Given the description of an element on the screen output the (x, y) to click on. 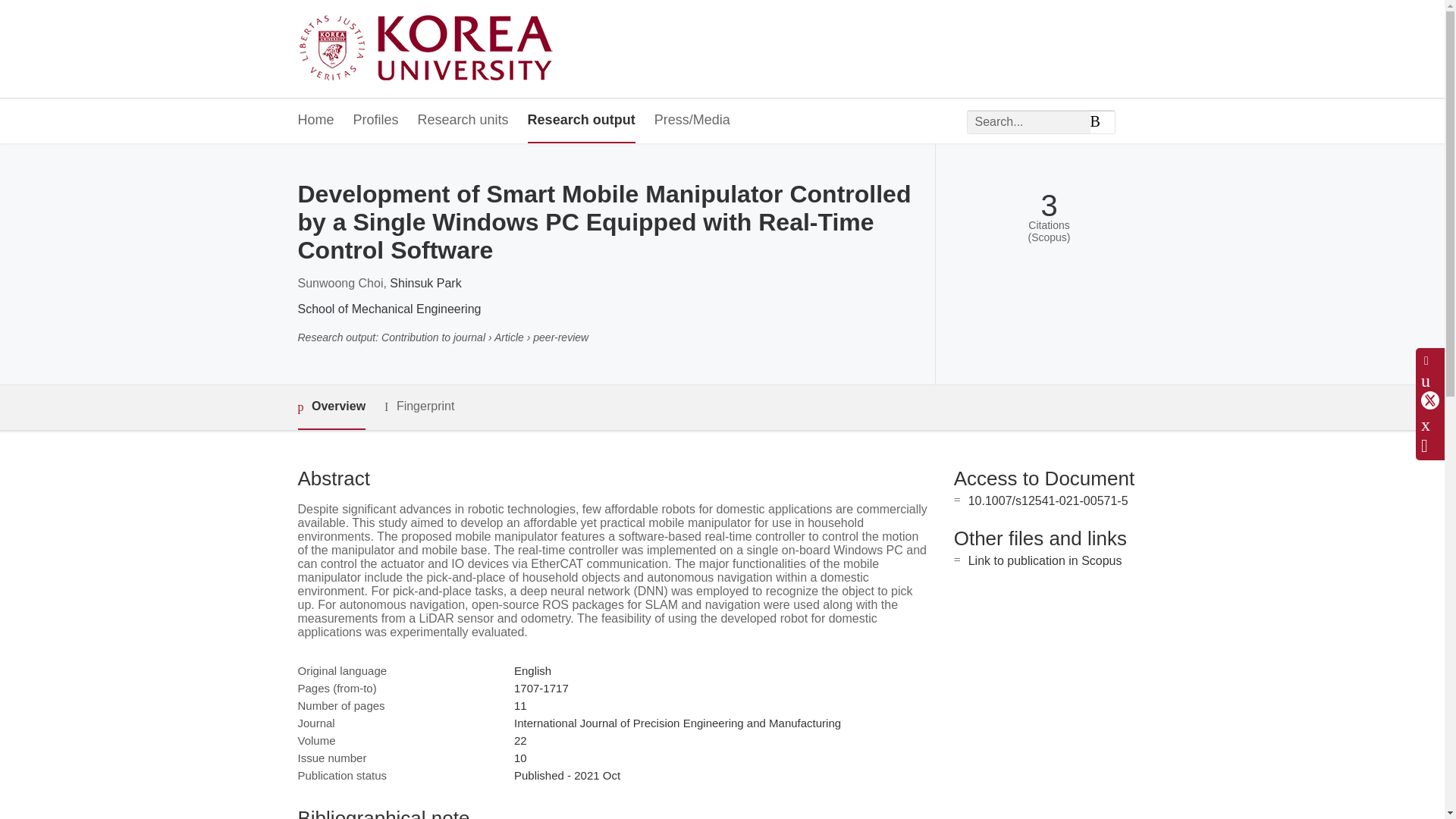
School of Mechanical Engineering (388, 308)
Profiles (375, 120)
Research output (580, 120)
Shinsuk Park (425, 282)
Research units (462, 120)
Fingerprint (419, 406)
Overview (331, 406)
Link to publication in Scopus (1045, 560)
